Given the description of an element on the screen output the (x, y) to click on. 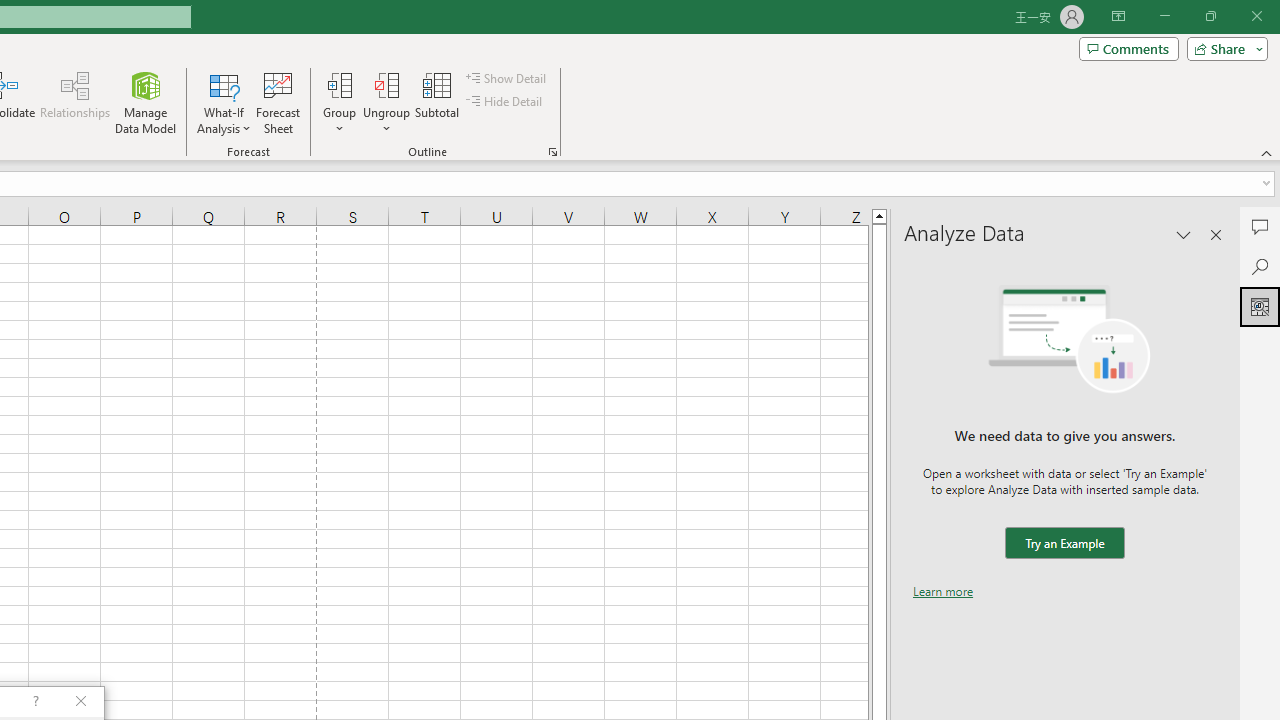
What-If Analysis (223, 102)
Relationships (75, 102)
Subtotal (437, 102)
Close pane (1215, 234)
Line up (879, 215)
Group... (339, 102)
Hide Detail (505, 101)
Ribbon Display Options (1118, 16)
Comments (1128, 48)
Learn more (943, 591)
Group and Outline Settings (552, 151)
Collapse the Ribbon (1267, 152)
Minimize (1164, 16)
